Given the description of an element on the screen output the (x, y) to click on. 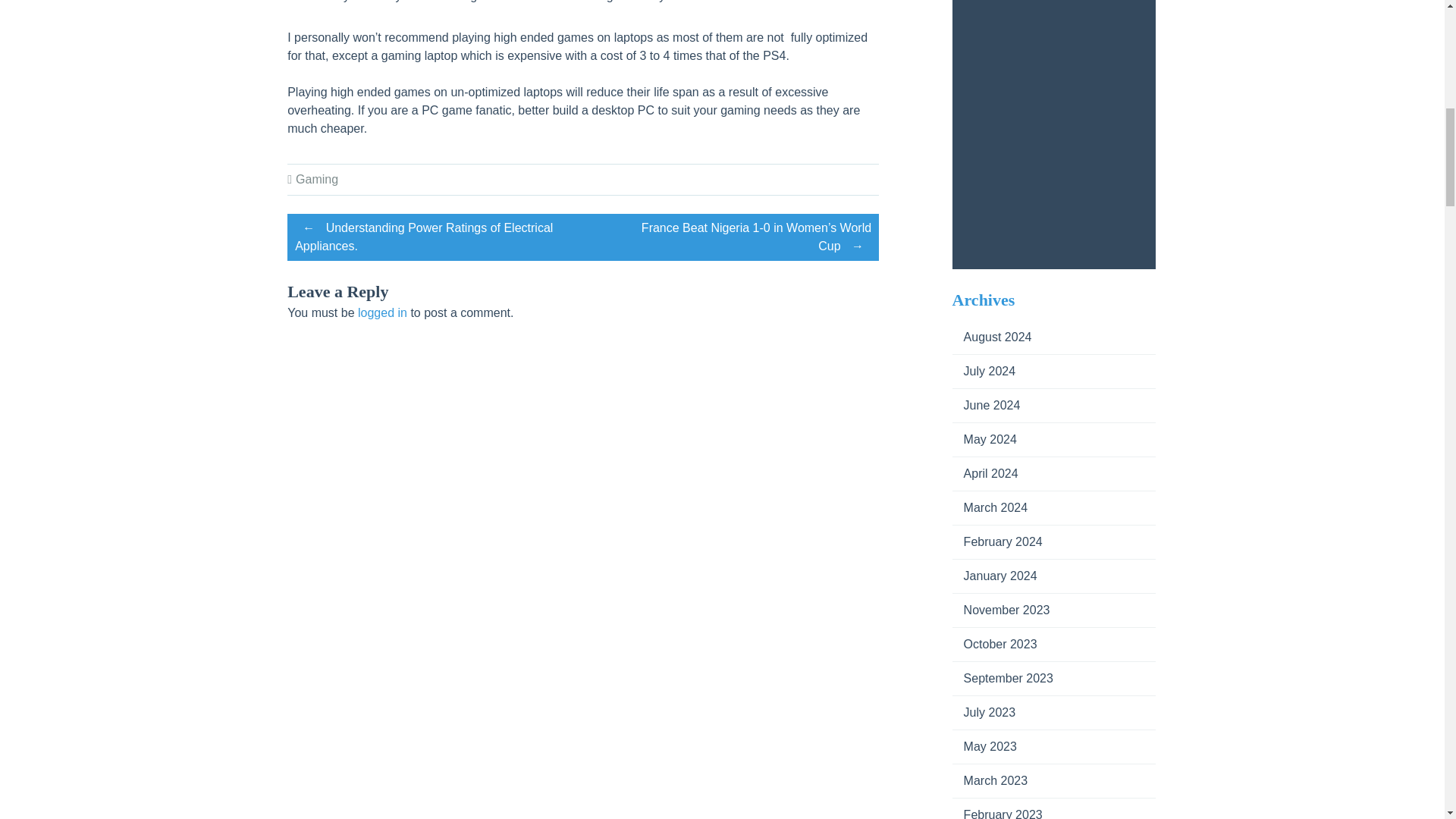
logged in (382, 312)
May 2024 (984, 439)
October 2023 (994, 644)
May 2023 (984, 746)
April 2024 (984, 472)
January 2024 (994, 575)
March 2024 (989, 507)
Gaming (316, 178)
September 2023 (1002, 677)
November 2023 (1000, 609)
